Given the description of an element on the screen output the (x, y) to click on. 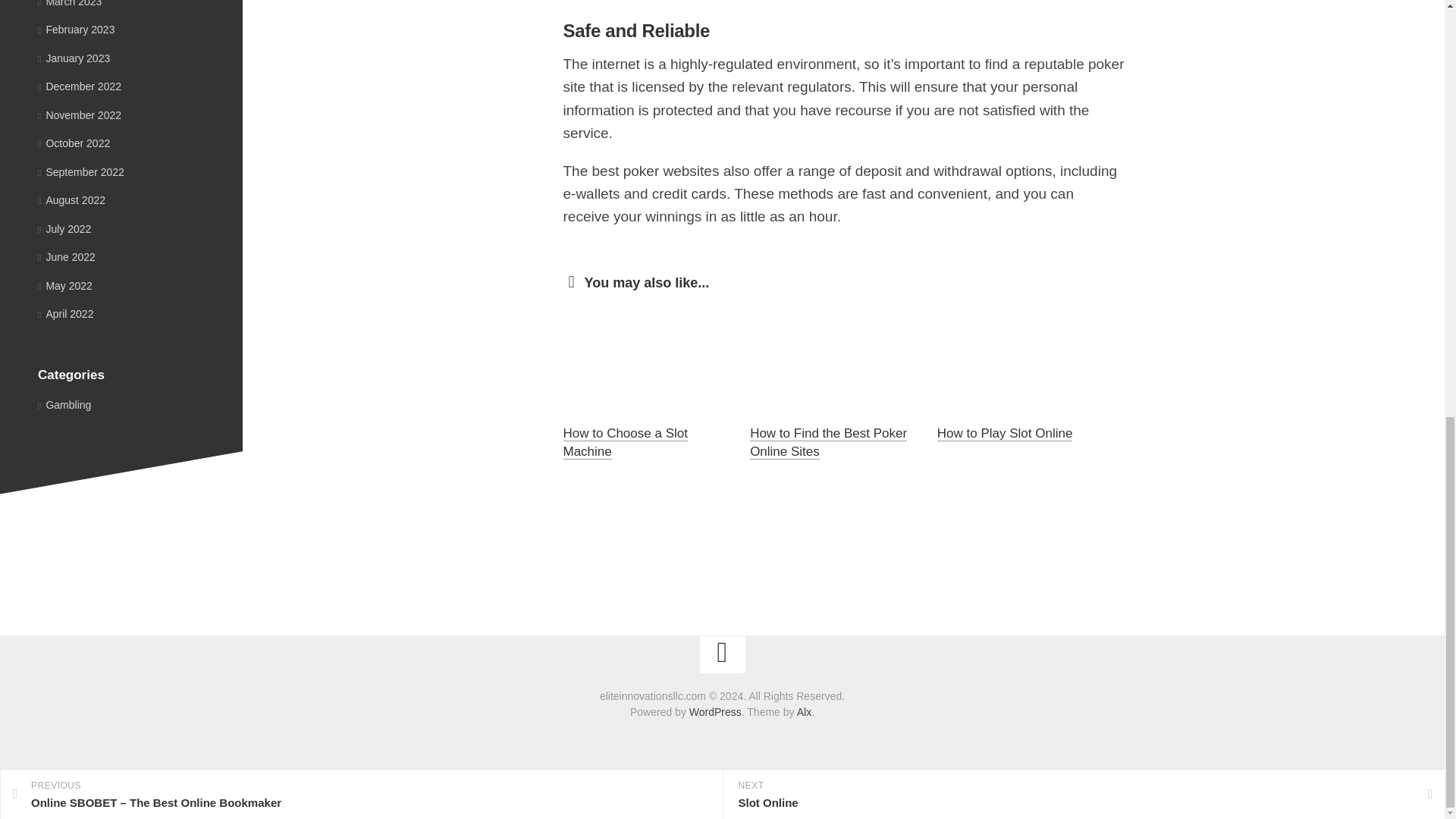
February 2023 (76, 29)
August 2022 (70, 200)
How to Find the Best Poker Online Sites (828, 441)
How to Choose a Slot Machine (624, 441)
January 2023 (73, 57)
March 2023 (69, 3)
October 2022 (73, 143)
December 2022 (78, 86)
November 2022 (78, 114)
How to Play Slot Online (1005, 432)
